Given the description of an element on the screen output the (x, y) to click on. 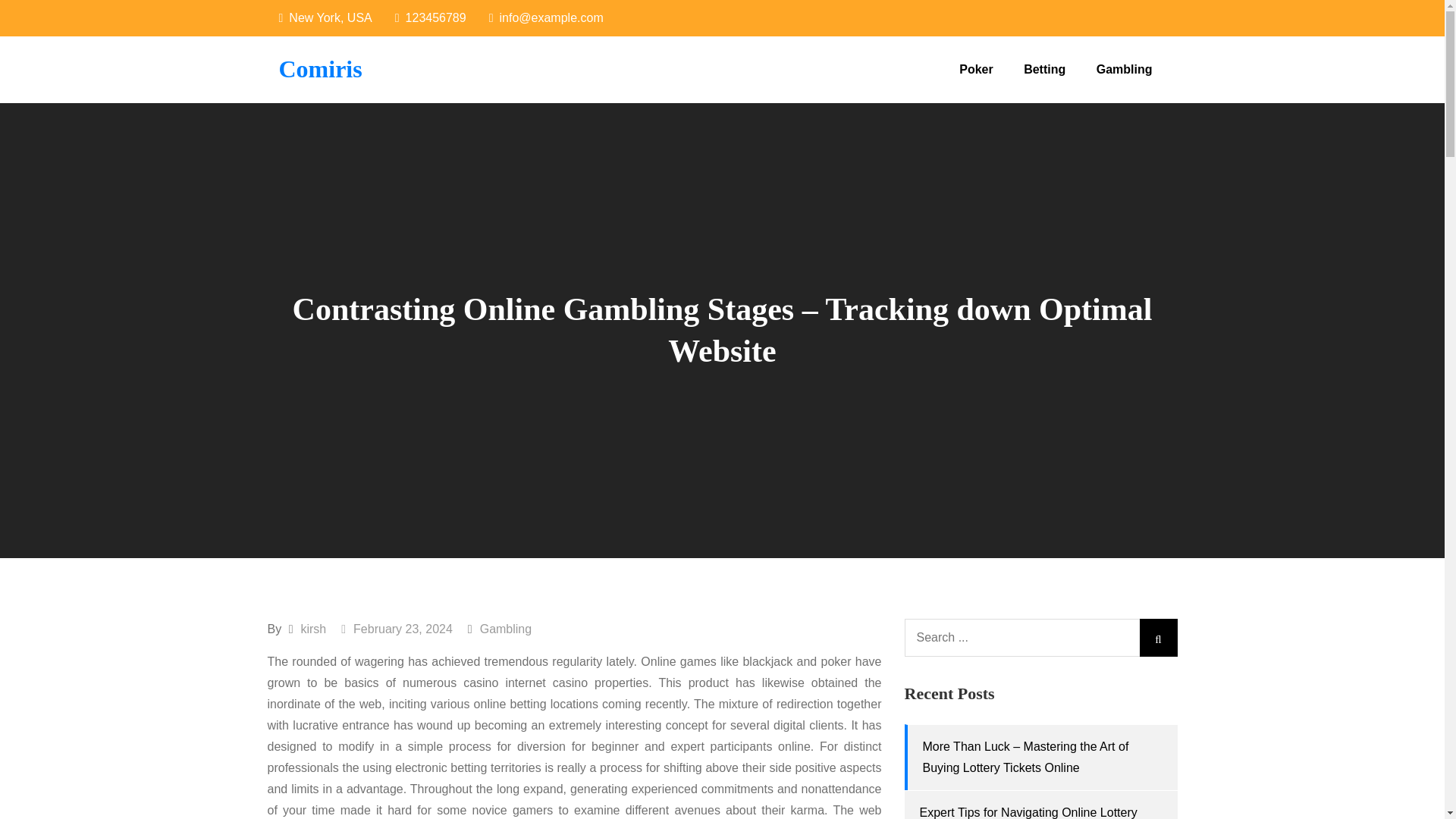
Search for: (1040, 637)
Comiris (320, 68)
Expert Tips for Navigating Online Lottery Services (1027, 812)
Poker (975, 69)
Betting (1044, 69)
Gambling (1124, 69)
Search (1157, 637)
Gambling (505, 628)
kirsh (312, 628)
February 23, 2024 (396, 628)
